Given the description of an element on the screen output the (x, y) to click on. 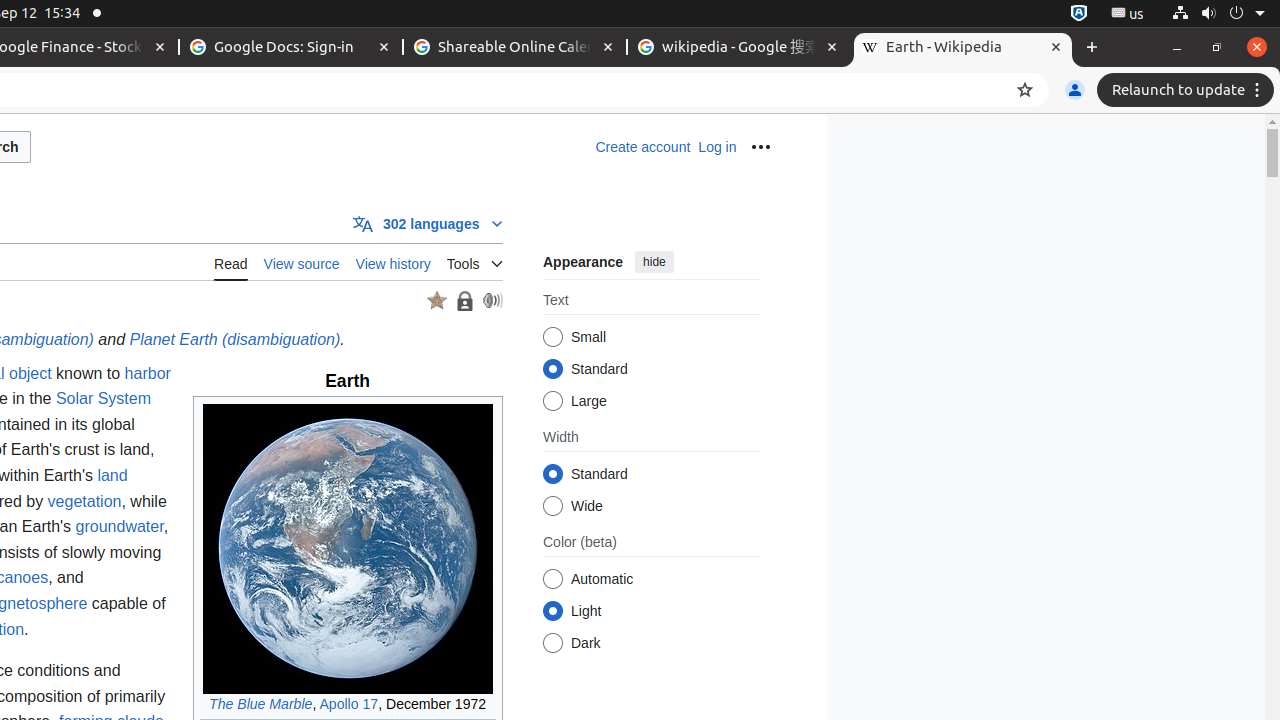
groundwater Element type: link (119, 527)
View history Element type: link (393, 262)
System Element type: menu (1218, 13)
Go to an article in another language. Available in 302 languages Element type: push-button (428, 223)
vegetation Element type: link (84, 501)
